Given the description of an element on the screen output the (x, y) to click on. 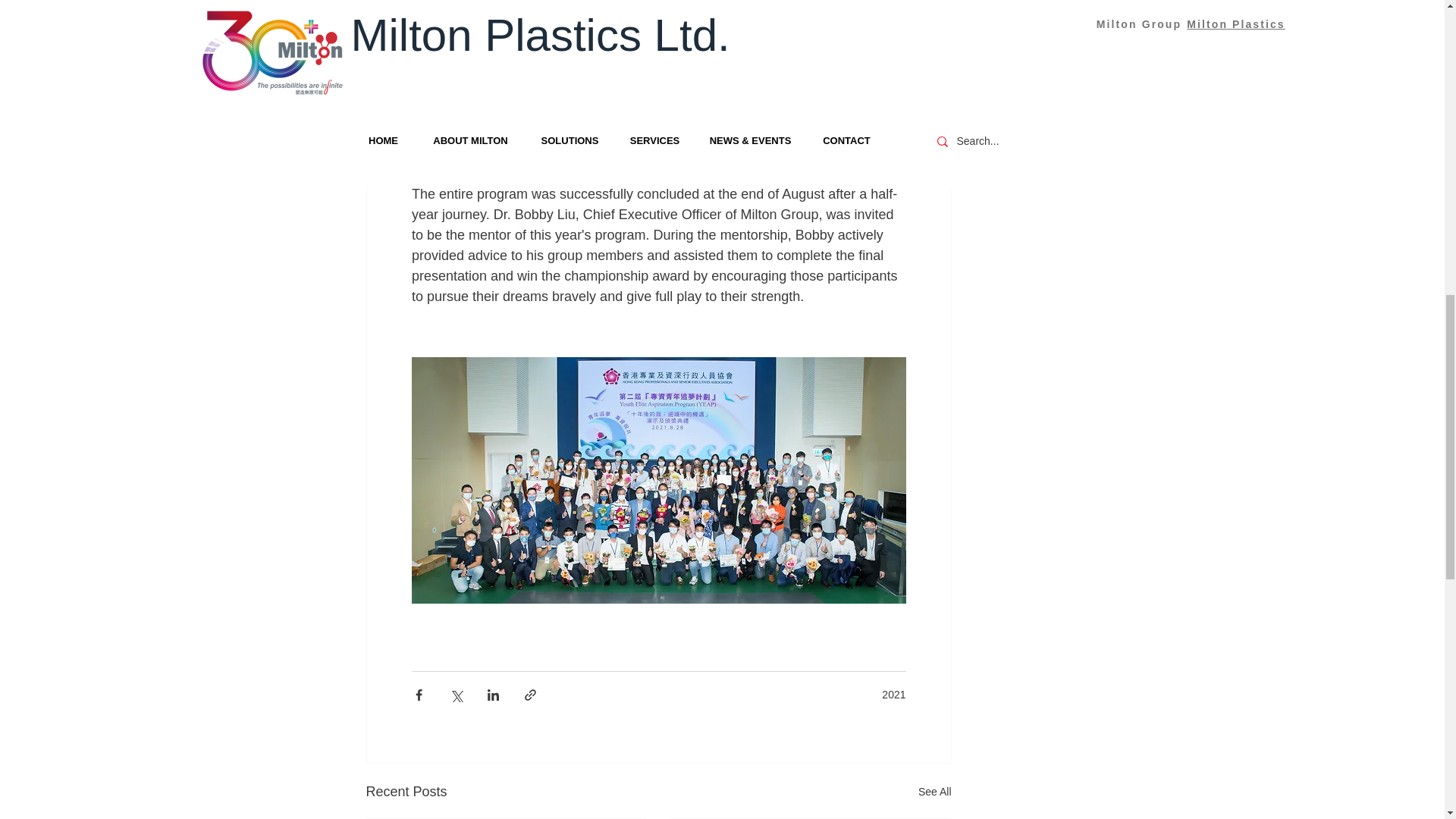
2021 (893, 694)
See All (935, 792)
